Given the description of an element on the screen output the (x, y) to click on. 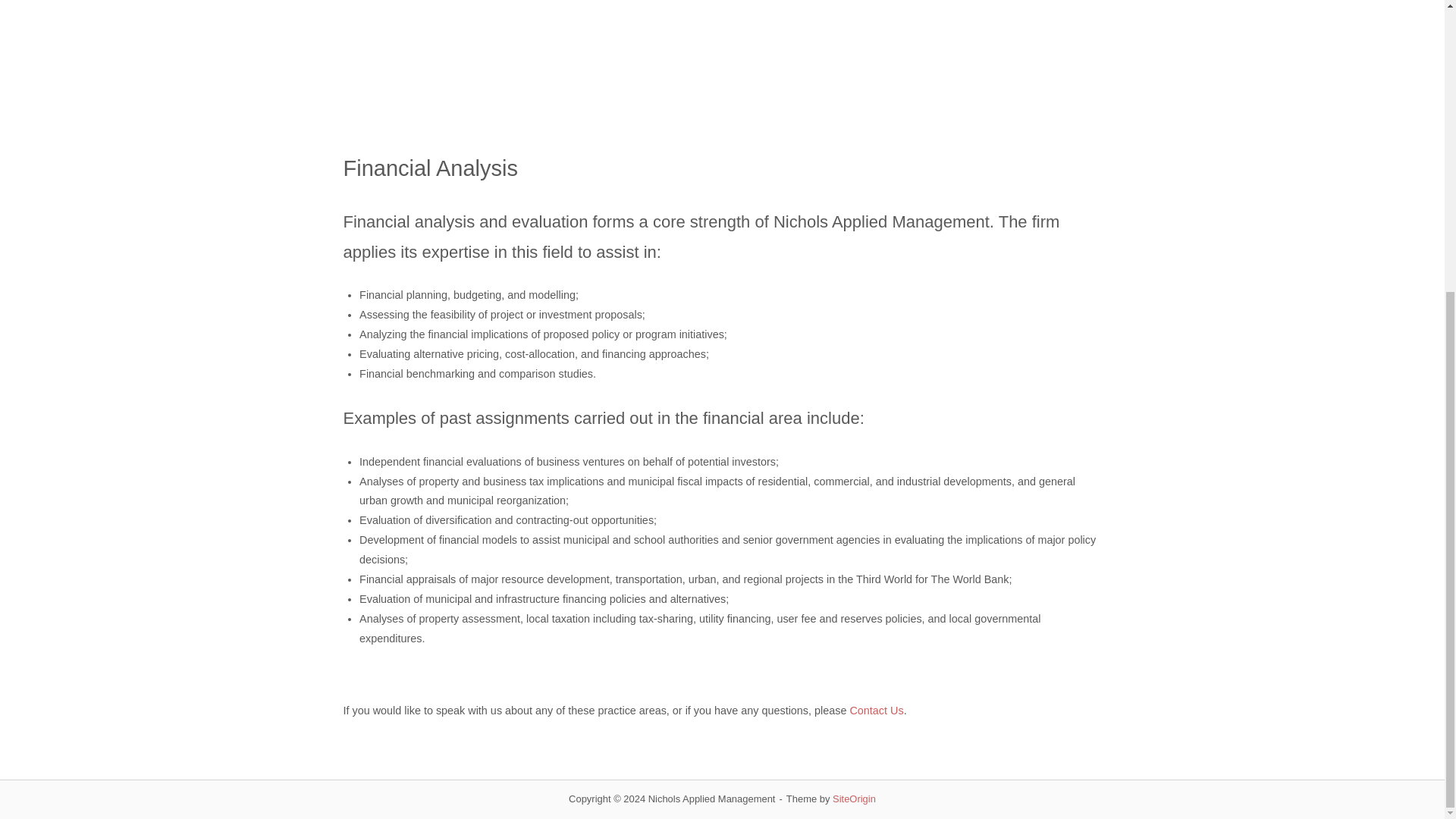
Contact Us (875, 710)
Contact Us (875, 710)
Financial Analysis (721, 63)
SiteOrigin (854, 798)
